Given the description of an element on the screen output the (x, y) to click on. 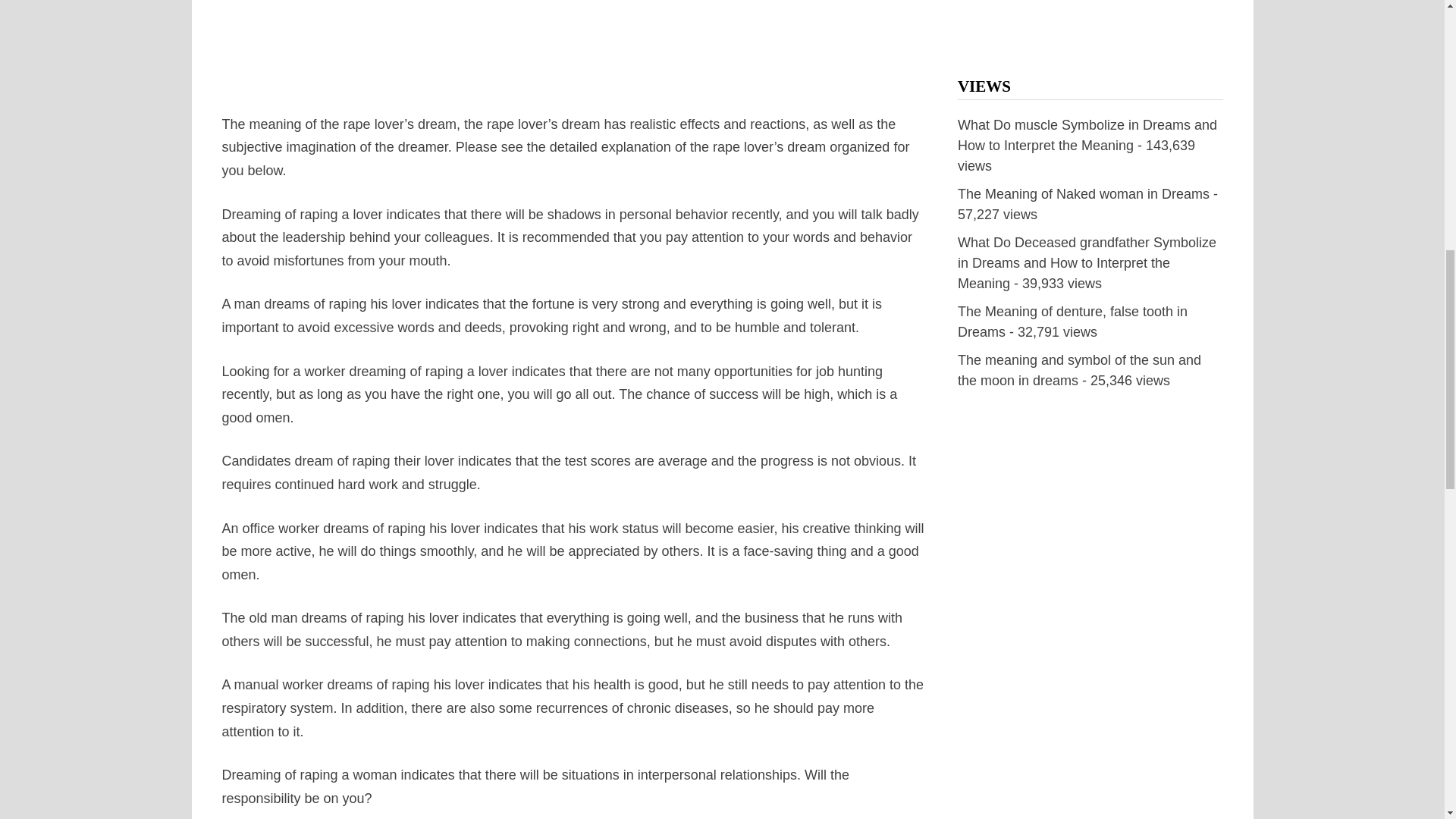
Advertisement (573, 56)
